Given the description of an element on the screen output the (x, y) to click on. 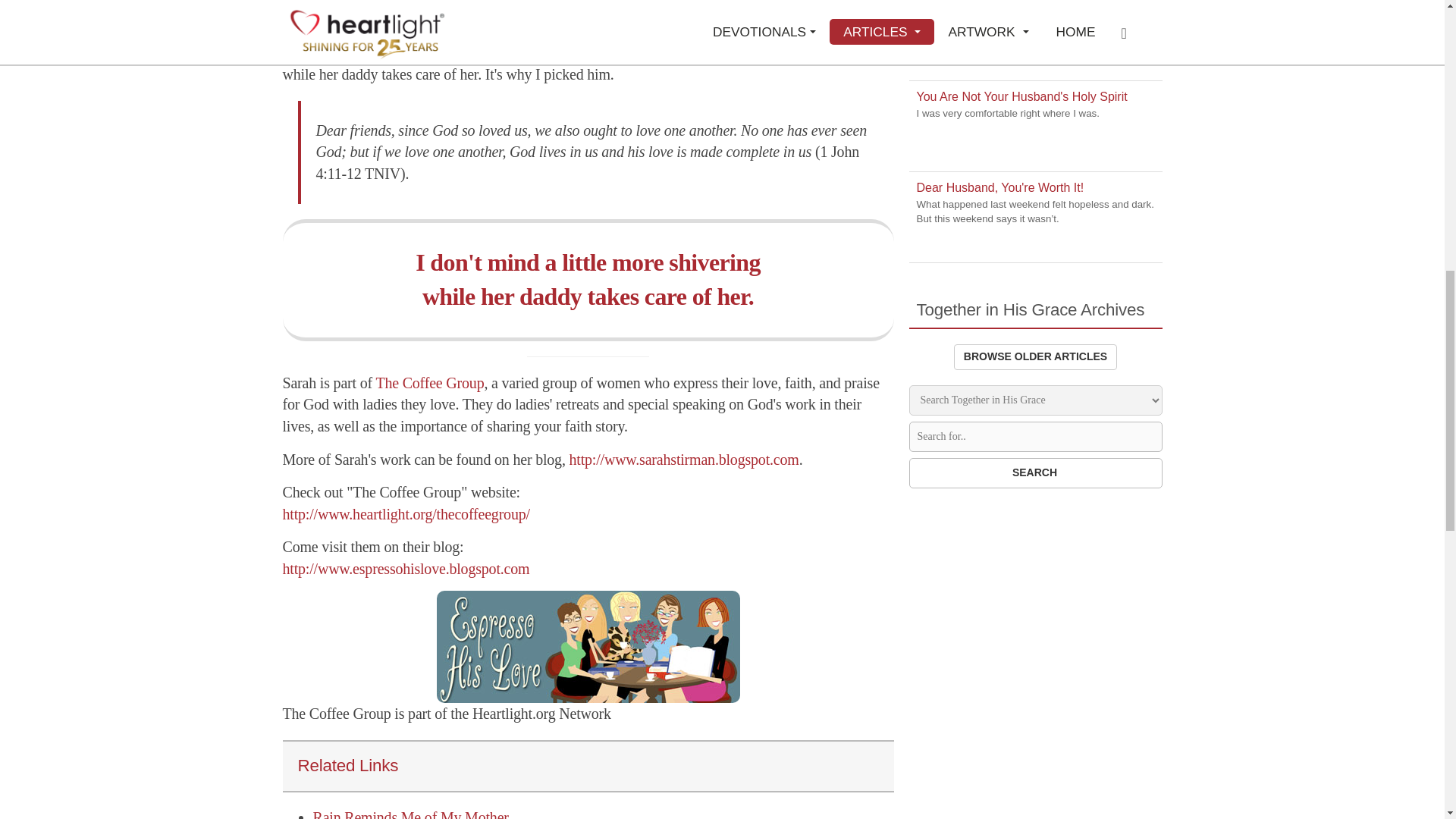
Search (1034, 472)
The Cleft of the Rock (683, 459)
Search (1034, 472)
